Given the description of an element on the screen output the (x, y) to click on. 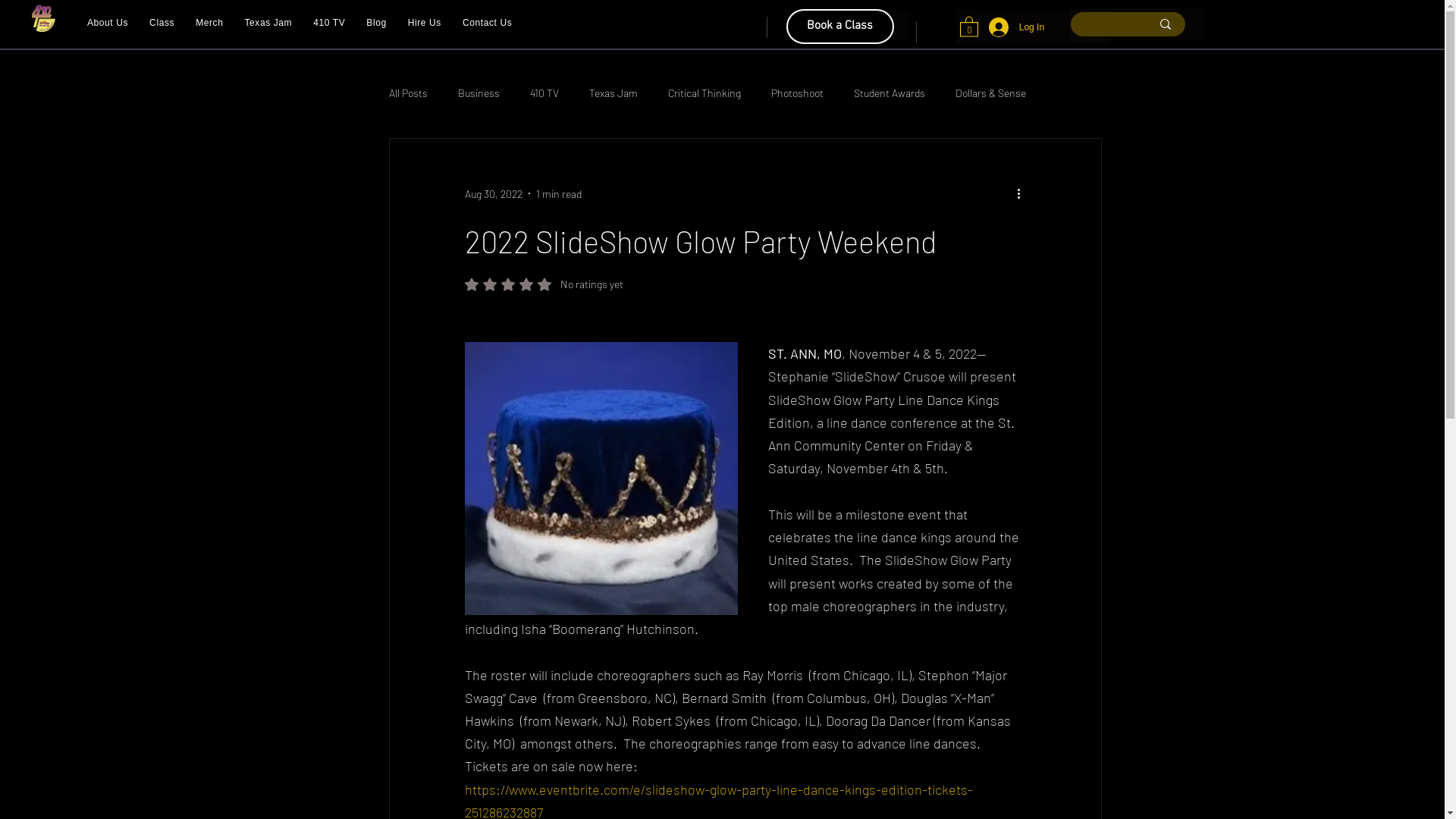
410 TV Element type: text (328, 22)
Texas Jam Element type: text (267, 22)
Student Awards Element type: text (889, 92)
Book a Class Element type: text (840, 26)
Log In Element type: text (1016, 26)
Texas Jam Element type: text (612, 92)
Contact Us Element type: text (487, 22)
Hire Us Element type: text (424, 22)
Rated 0 out of 5 stars.
No ratings yet Element type: text (543, 284)
Dollars & Sense Element type: text (990, 92)
410 TV Element type: text (543, 92)
All Posts Element type: text (407, 92)
Blog Element type: text (375, 22)
Merch Element type: text (209, 22)
Critical Thinking Element type: text (703, 92)
Photoshoot Element type: text (796, 92)
About Us Element type: text (107, 22)
Business Element type: text (478, 92)
0 Element type: text (969, 26)
